Given the description of an element on the screen output the (x, y) to click on. 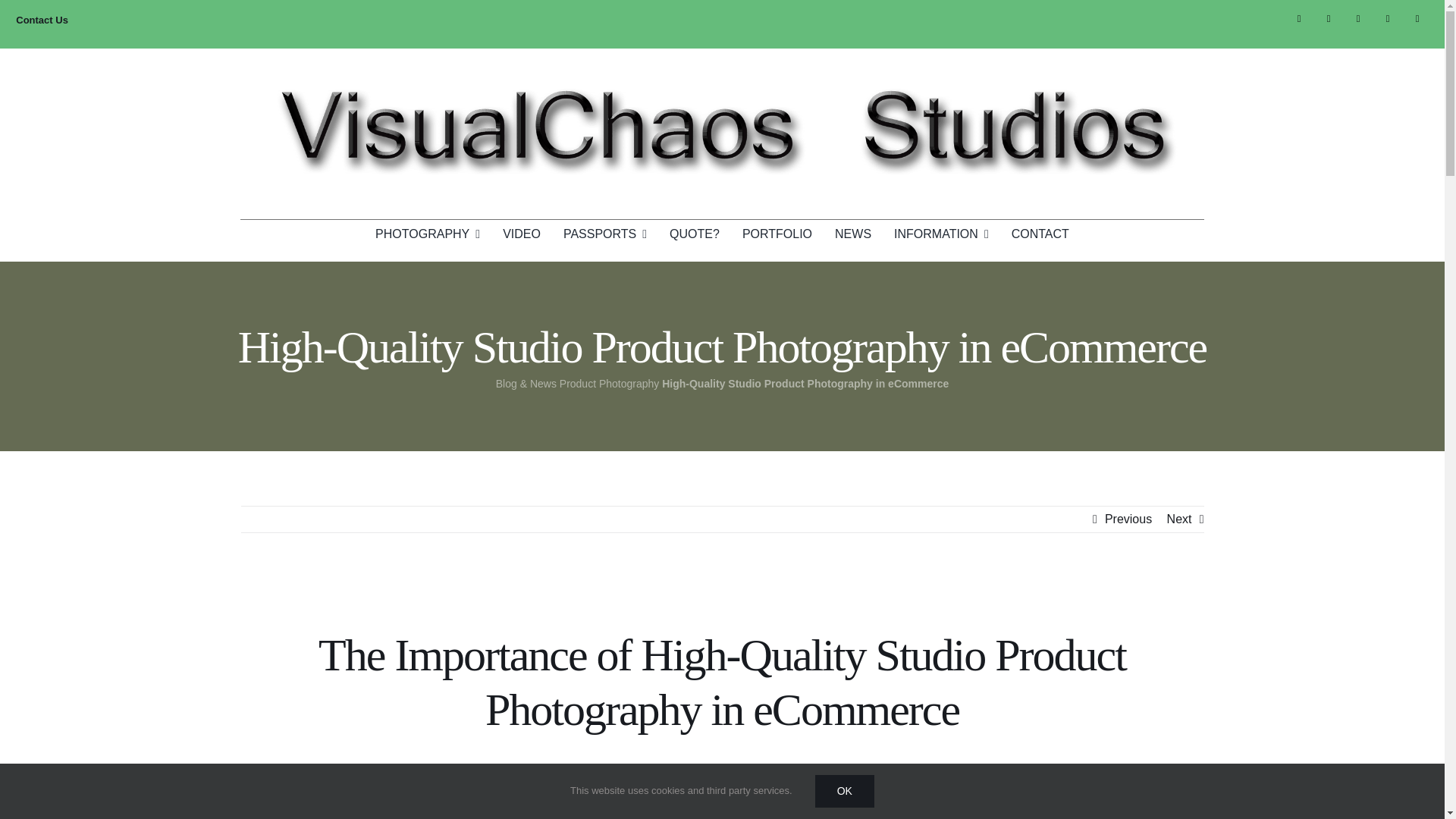
Email (1417, 18)
QUOTE? (694, 233)
VIDEO (521, 233)
Instagram (1359, 18)
Facebook (1328, 18)
CONTACT (1039, 233)
INFORMATION (940, 233)
PHOTOGRAPHY (427, 233)
NEWS (852, 233)
Contact Us (42, 19)
